Given the description of an element on the screen output the (x, y) to click on. 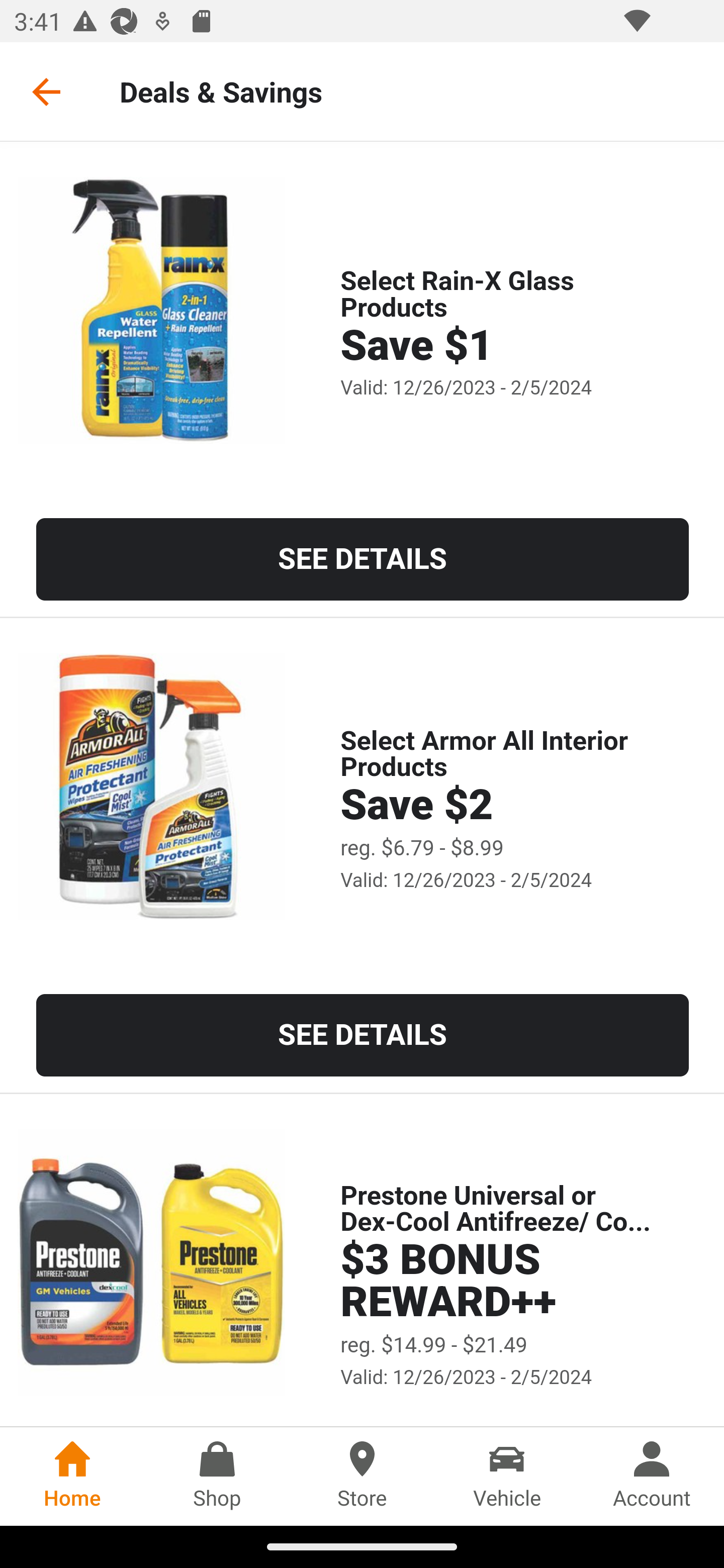
Go back (45, 91)
Home (72, 1475)
Shop (216, 1475)
Store (361, 1475)
Vehicle (506, 1475)
Account (651, 1475)
